Given the description of an element on the screen output the (x, y) to click on. 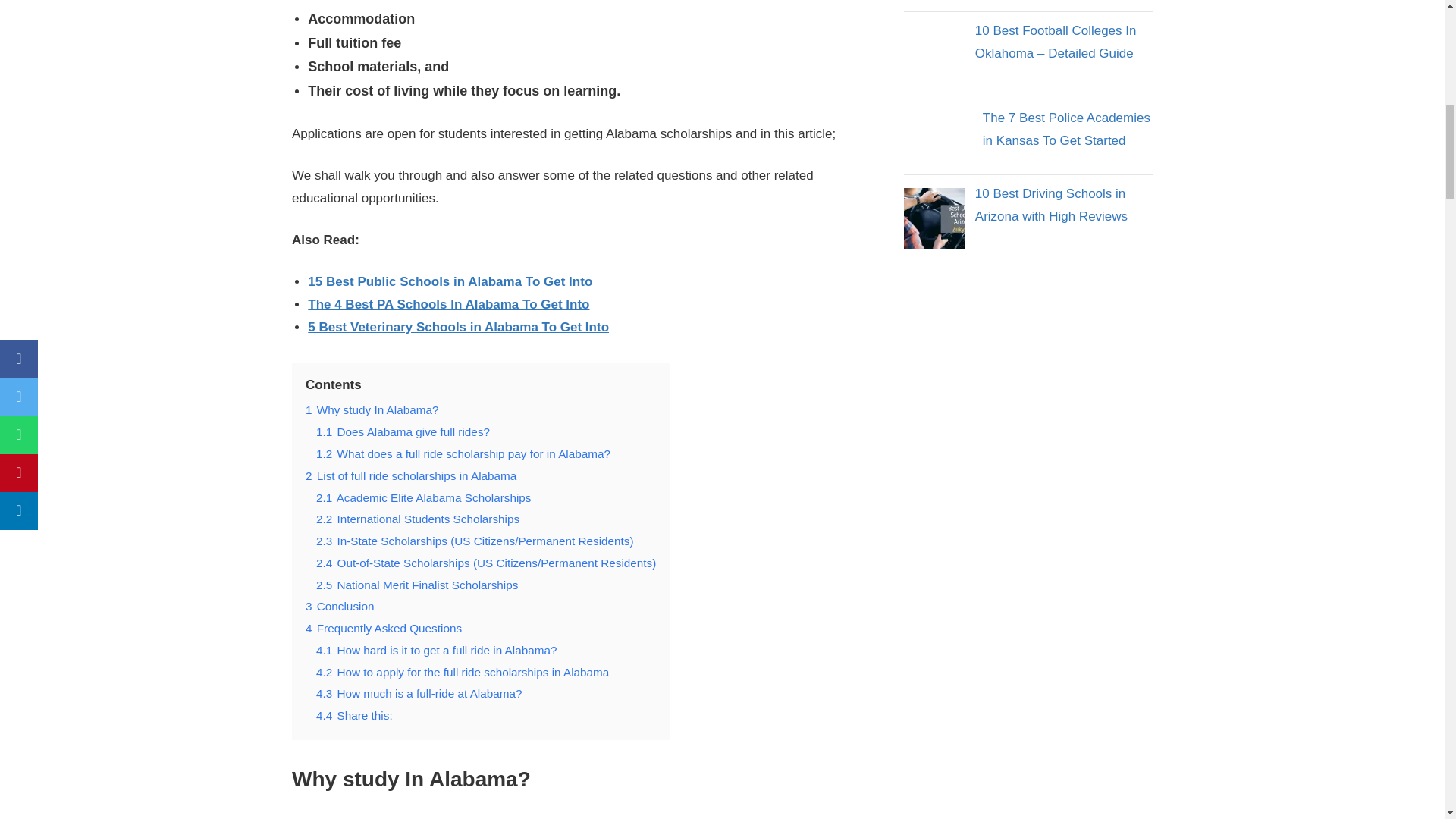
4 Frequently Asked Questions (383, 627)
1.1 Does Alabama give full rides? (402, 431)
3 Conclusion (339, 605)
4.4 Share this: (354, 715)
5 Best Veterinary Schools in Alabama To Get Into (457, 327)
2.1 Academic Elite Alabama Scholarships (423, 497)
2.5 National Merit Finalist Scholarships (416, 584)
2.2 International Students Scholarships (417, 518)
1 Why study In Alabama? (371, 409)
The 4 Best PA Schools In Alabama To Get Into (448, 304)
